Given the description of an element on the screen output the (x, y) to click on. 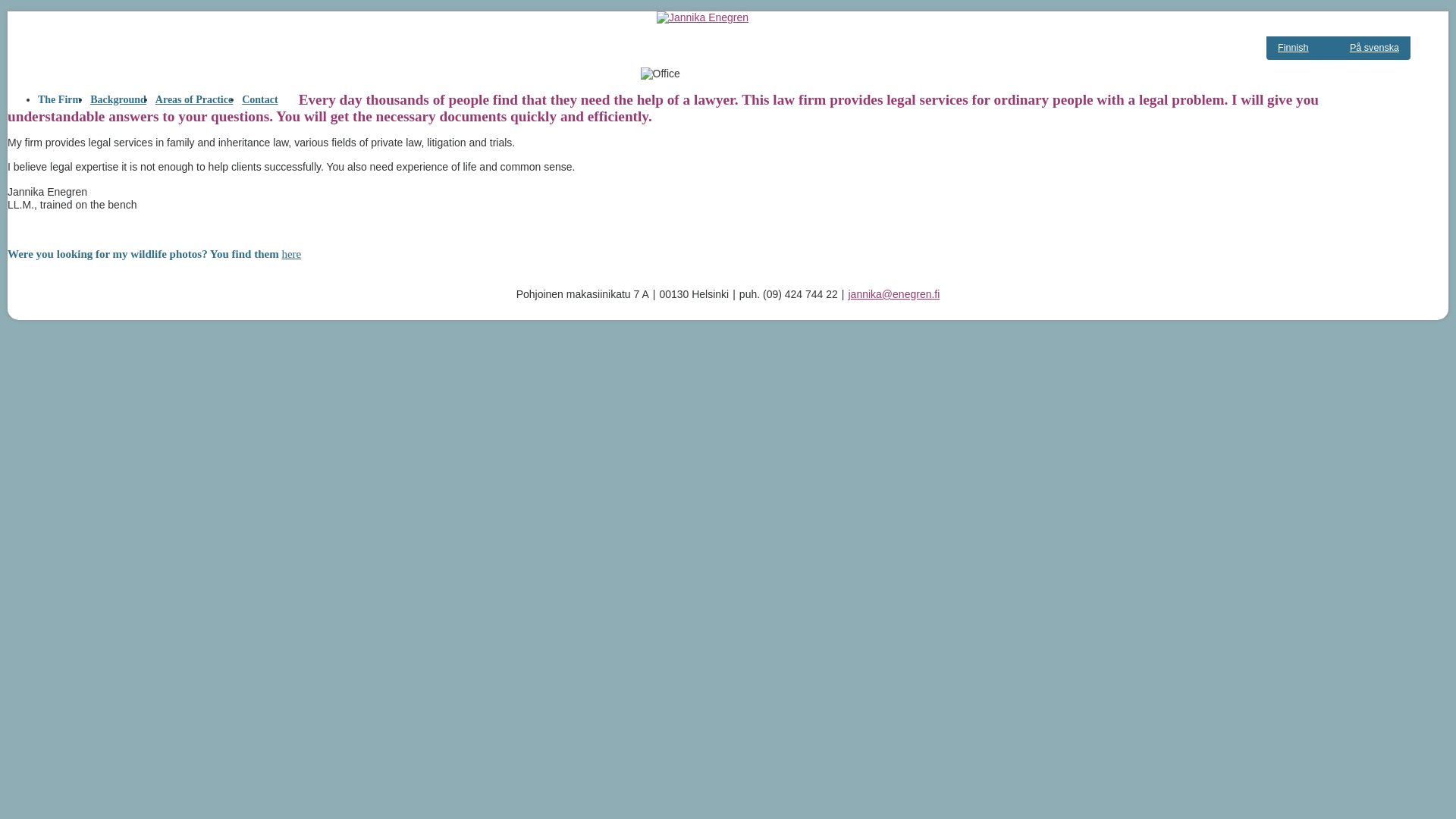
Finnish (1293, 47)
The Firm (59, 99)
here (291, 254)
Background (118, 99)
Areas of Practice (193, 99)
Contact (259, 99)
